Given the description of an element on the screen output the (x, y) to click on. 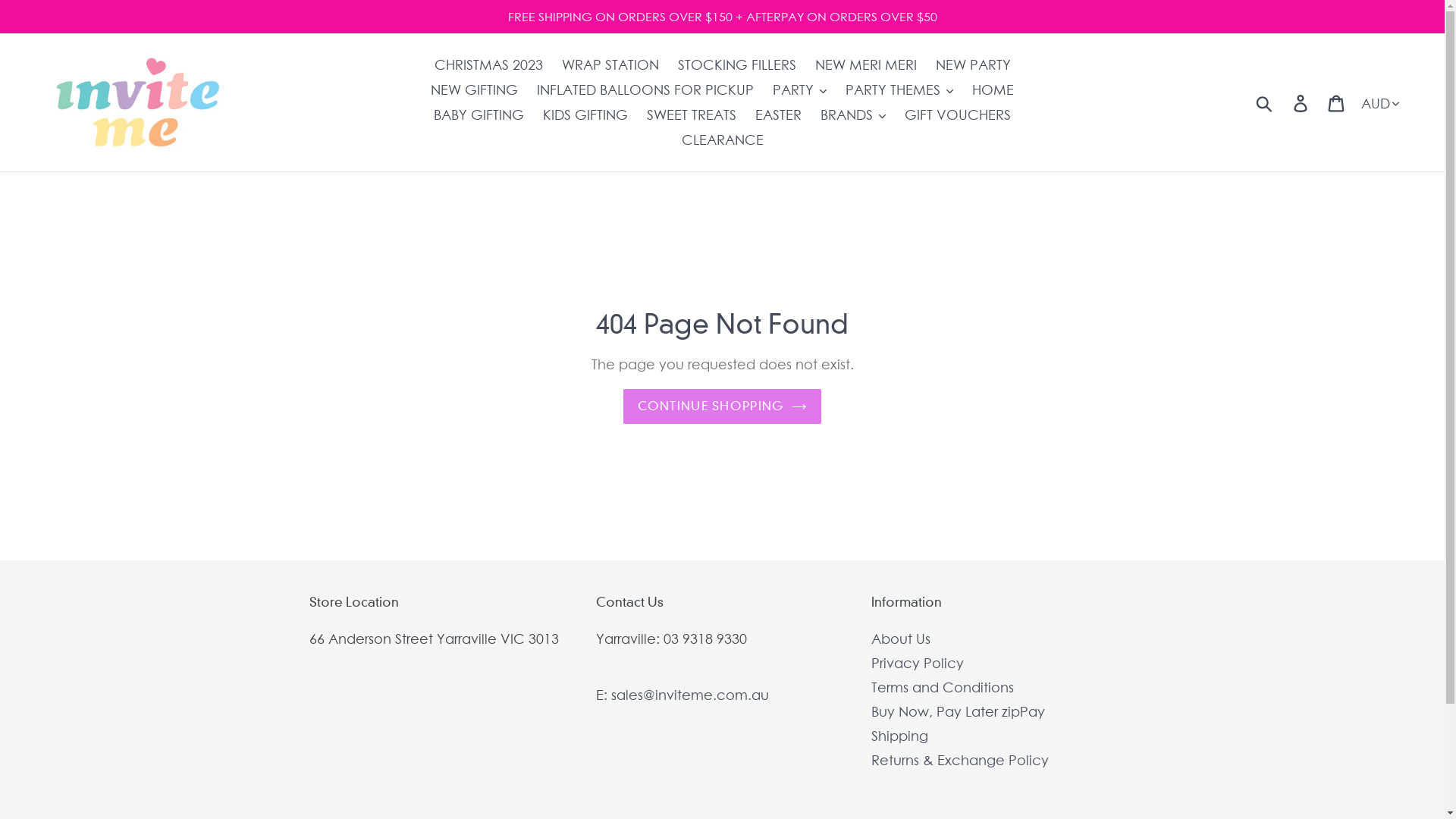
NEW PARTY Element type: text (973, 64)
WRAP STATION Element type: text (609, 64)
EASTER Element type: text (778, 114)
INFLATED BALLOONS FOR PICKUP Element type: text (645, 89)
About Us Element type: text (900, 638)
Log in Element type: text (1301, 102)
NEW GIFTING Element type: text (474, 89)
KIDS GIFTING Element type: text (585, 114)
NEW MERI MERI Element type: text (864, 64)
CHRISTMAS 2023 Element type: text (487, 64)
SWEET TREATS Element type: text (691, 114)
CONTINUE SHOPPING Element type: text (722, 406)
Submit Element type: text (1264, 102)
CLEARANCE Element type: text (721, 139)
Shipping Element type: text (899, 735)
Terms and Conditions Element type: text (942, 687)
Returns & Exchange Policy Element type: text (959, 760)
GIFT VOUCHERS Element type: text (957, 114)
Privacy Policy Element type: text (917, 663)
Buy Now, Pay Later zipPay Element type: text (957, 711)
STOCKING FILLERS Element type: text (736, 64)
BABY GIFTING Element type: text (478, 114)
Cart Element type: text (1337, 102)
HOME Element type: text (992, 89)
sales@inviteme.com.au Element type: text (689, 694)
